Given the description of an element on the screen output the (x, y) to click on. 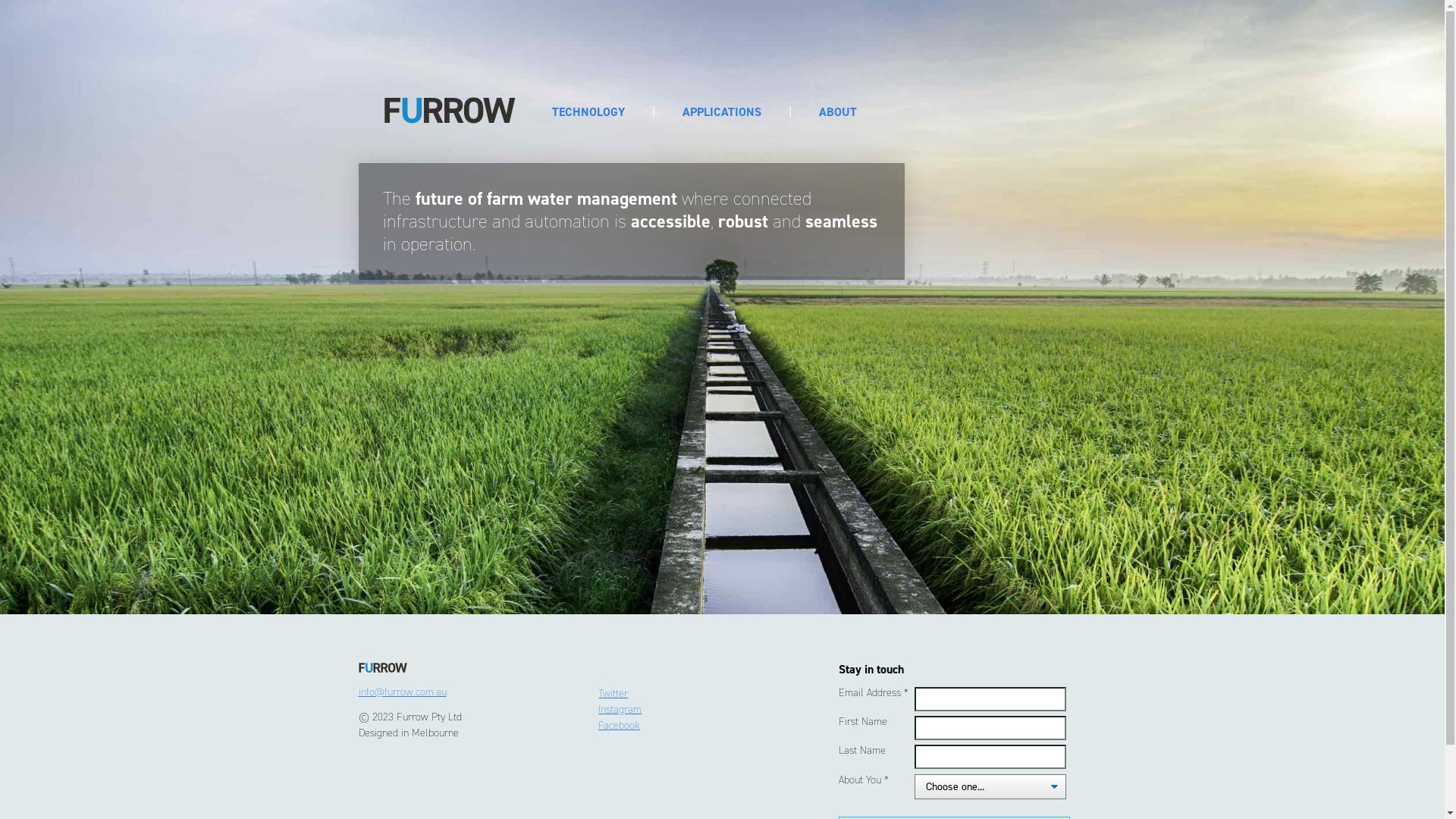
TECHNOLOGY Element type: text (588, 112)
Instagram Element type: text (619, 709)
Facebook Element type: text (619, 725)
APPLICATIONS Element type: text (721, 112)
ABOUT Element type: text (837, 112)
Twitter Element type: text (612, 693)
info@furrow.com.au Element type: text (401, 692)
